Given the description of an element on the screen output the (x, y) to click on. 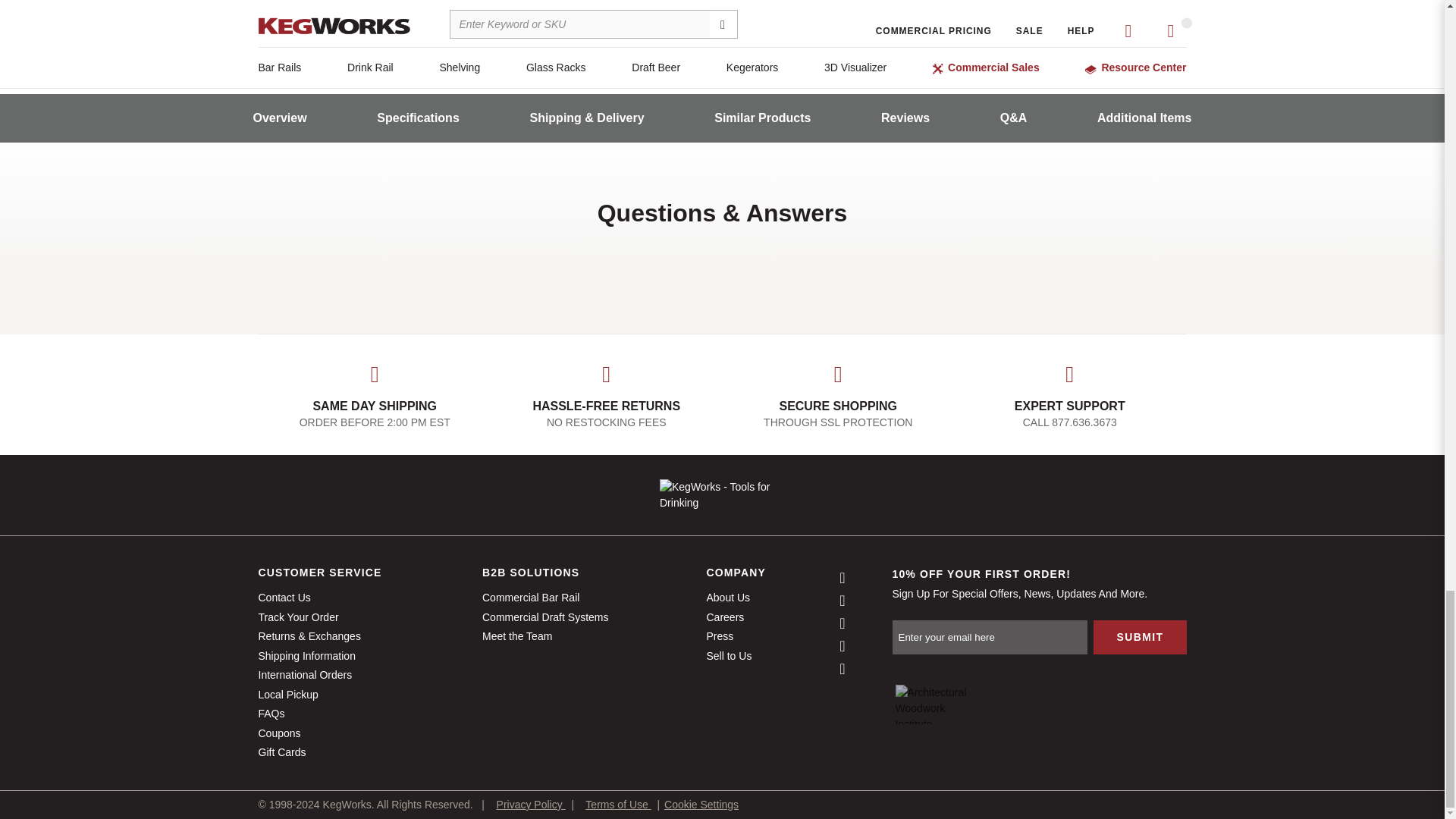
Submit (1139, 636)
